Given the description of an element on the screen output the (x, y) to click on. 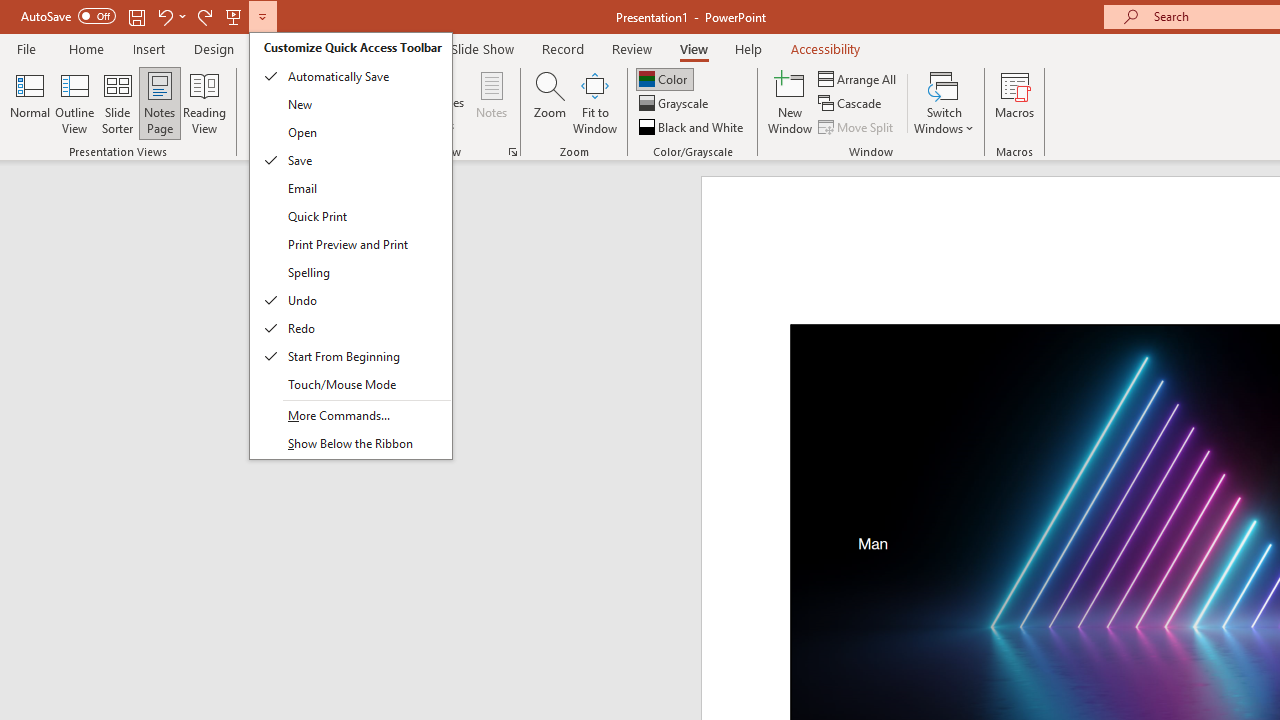
Fit to Window (594, 102)
Outline View (74, 102)
Notes Page (159, 102)
Switch Windows (943, 102)
